Given the description of an element on the screen output the (x, y) to click on. 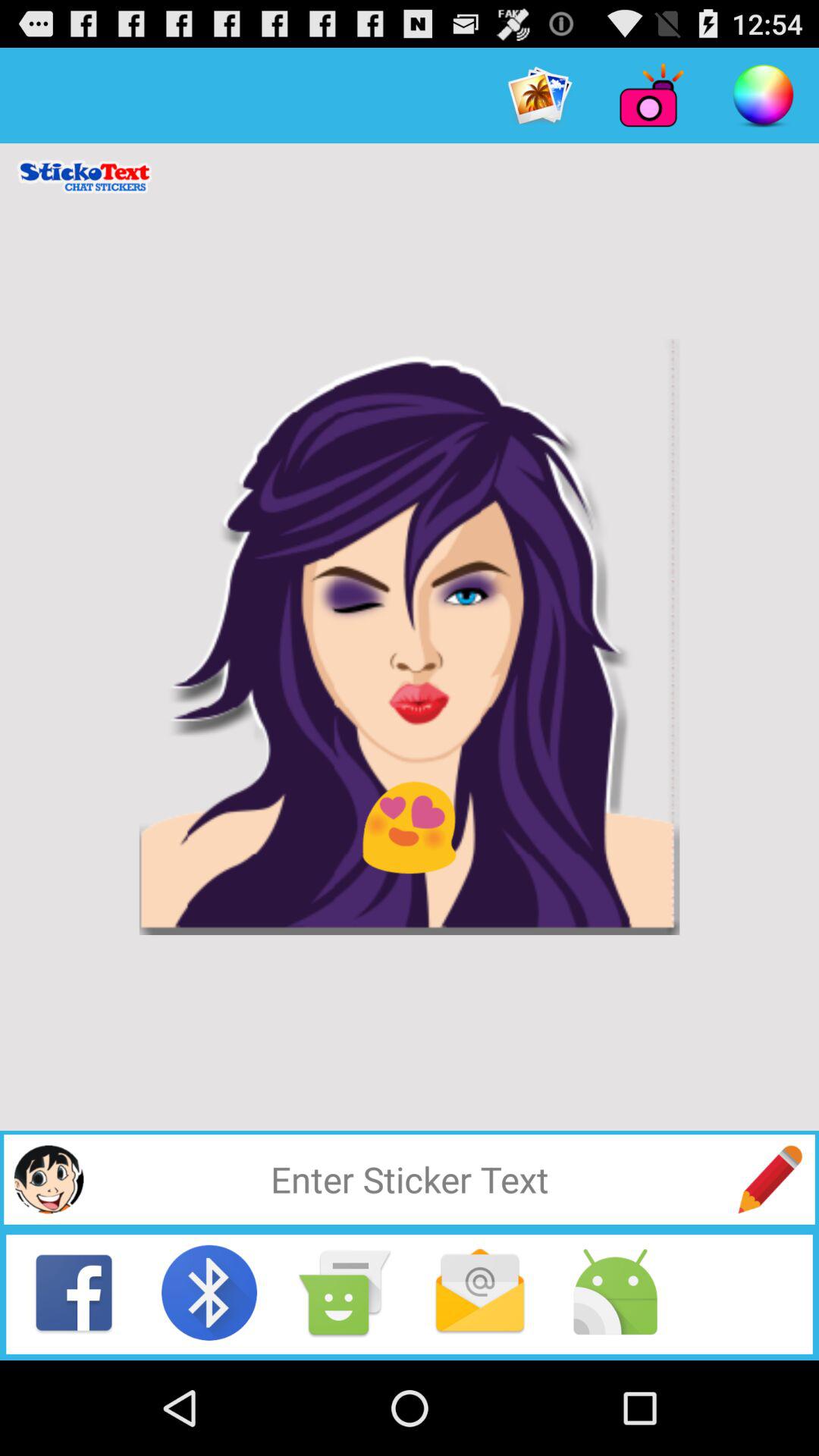
send by email (479, 1292)
